Given the description of an element on the screen output the (x, y) to click on. 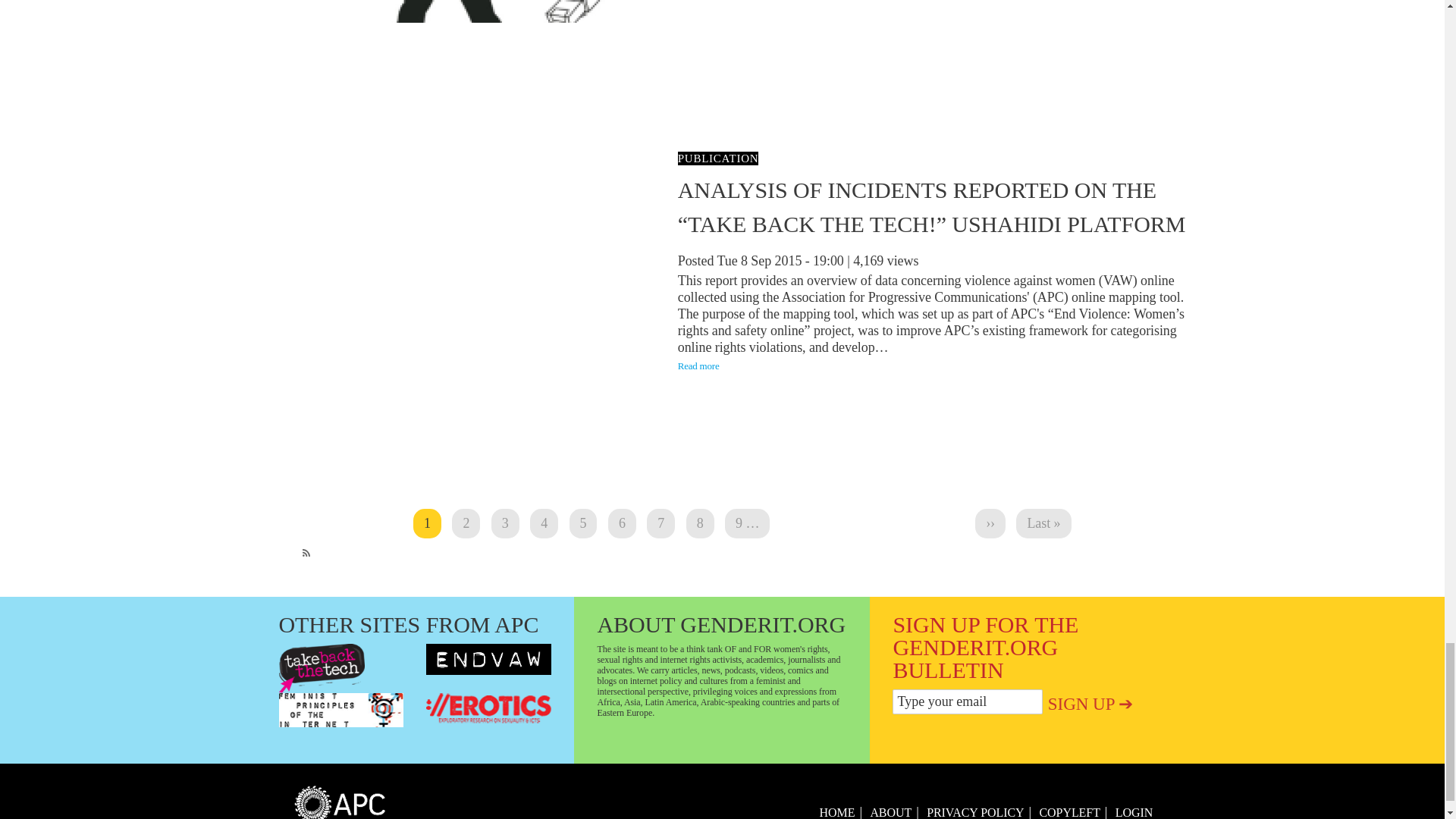
Go to page 8 (699, 523)
Go to next page (990, 523)
Go to page 5 (582, 523)
Type your email (967, 701)
Go to last page (1043, 523)
Go to page 9 (747, 523)
Current page (465, 523)
Go to page 7 (427, 523)
Go to page 6 (427, 523)
Go to page 2 (660, 523)
Read more (622, 523)
Go to page 3 (465, 523)
Go to page 4 (698, 365)
